Given the description of an element on the screen output the (x, y) to click on. 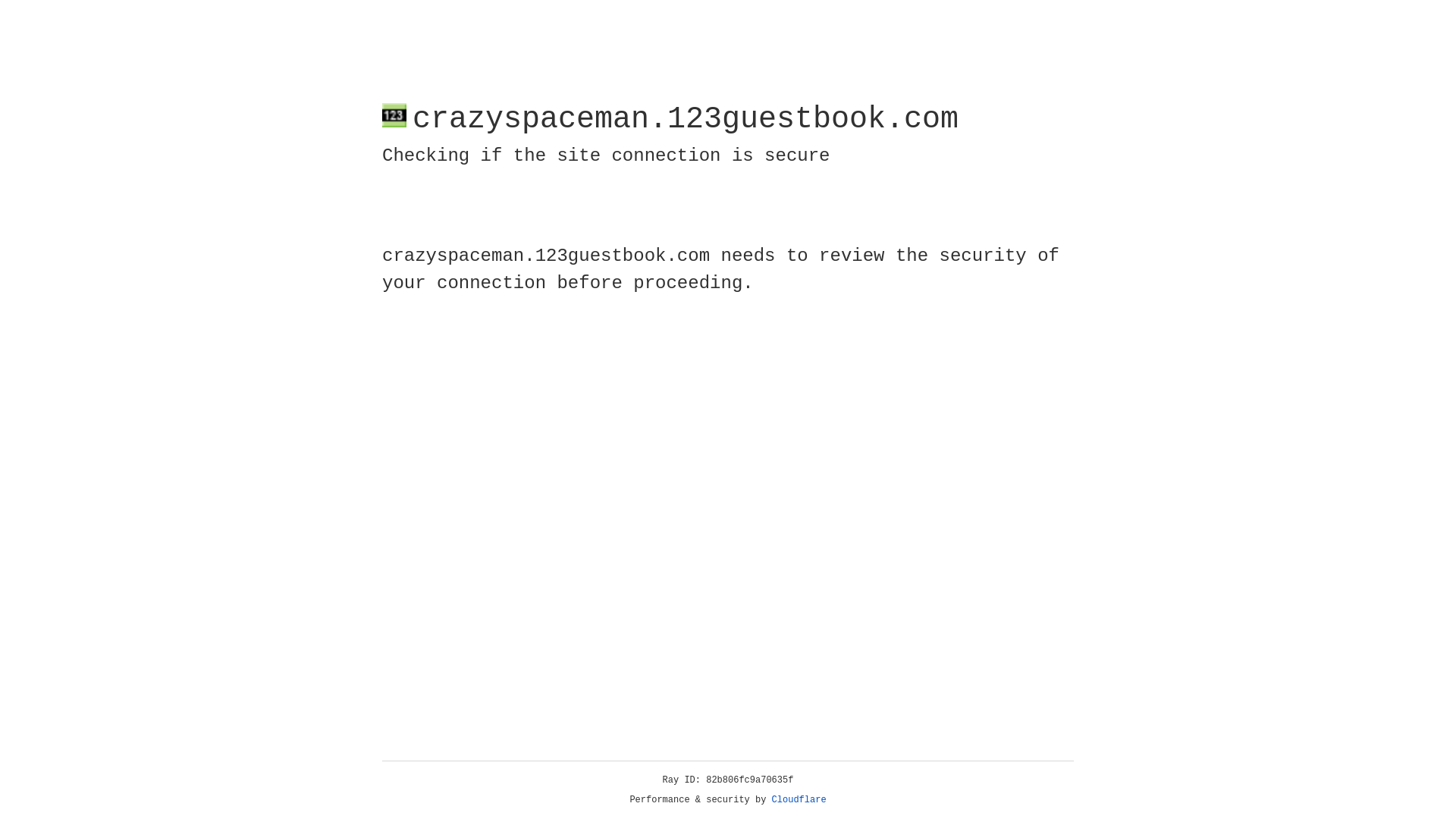
Cloudflare Element type: text (798, 799)
